Given the description of an element on the screen output the (x, y) to click on. 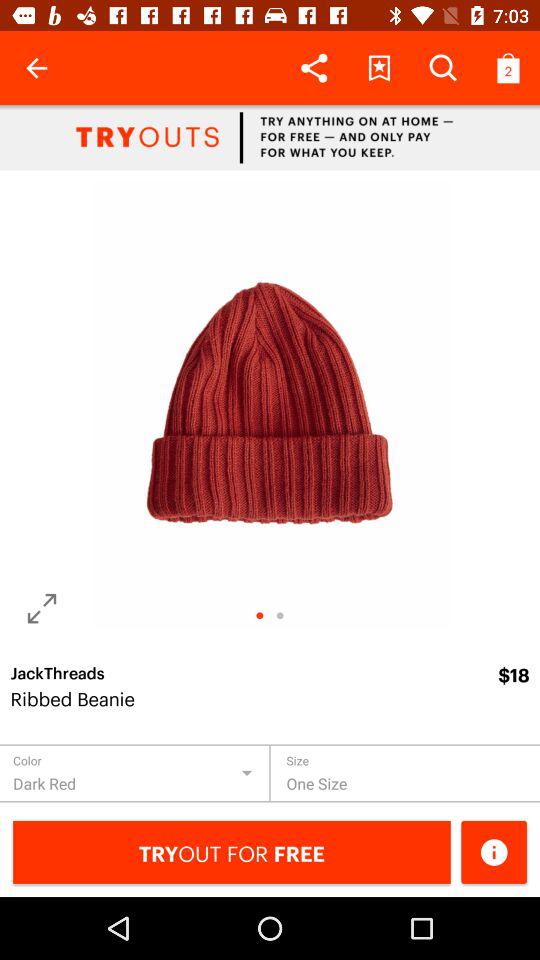
online shopping page (270, 137)
